Given the description of an element on the screen output the (x, y) to click on. 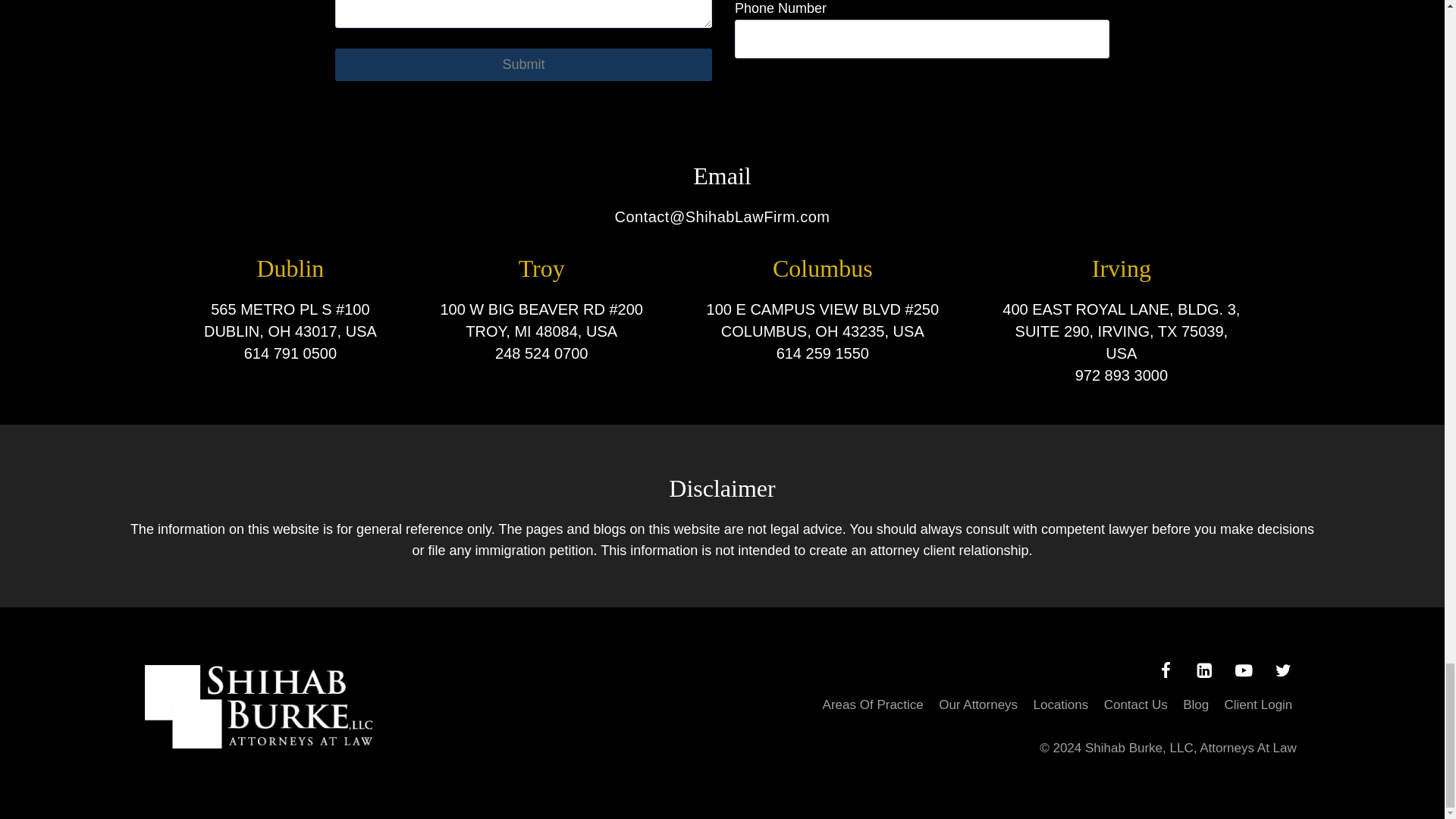
Submit (522, 64)
